Given the description of an element on the screen output the (x, y) to click on. 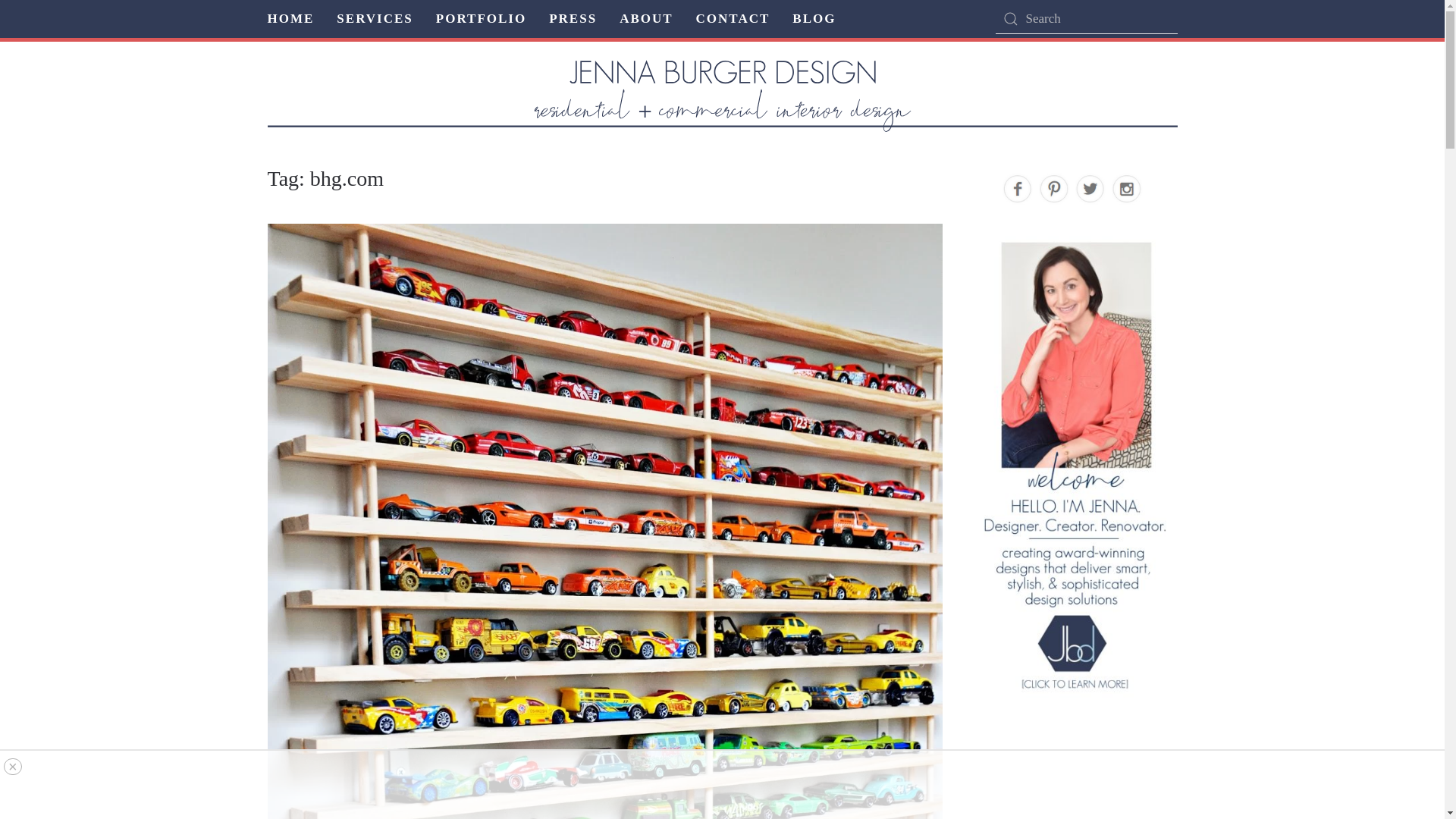
HOME (290, 18)
CONTACT (732, 18)
PORTFOLIO (480, 18)
ABOUT (646, 18)
SERVICES (374, 18)
pinterest (1059, 193)
BLOG (813, 18)
PRESS (572, 18)
facebook (1023, 193)
